Given the description of an element on the screen output the (x, y) to click on. 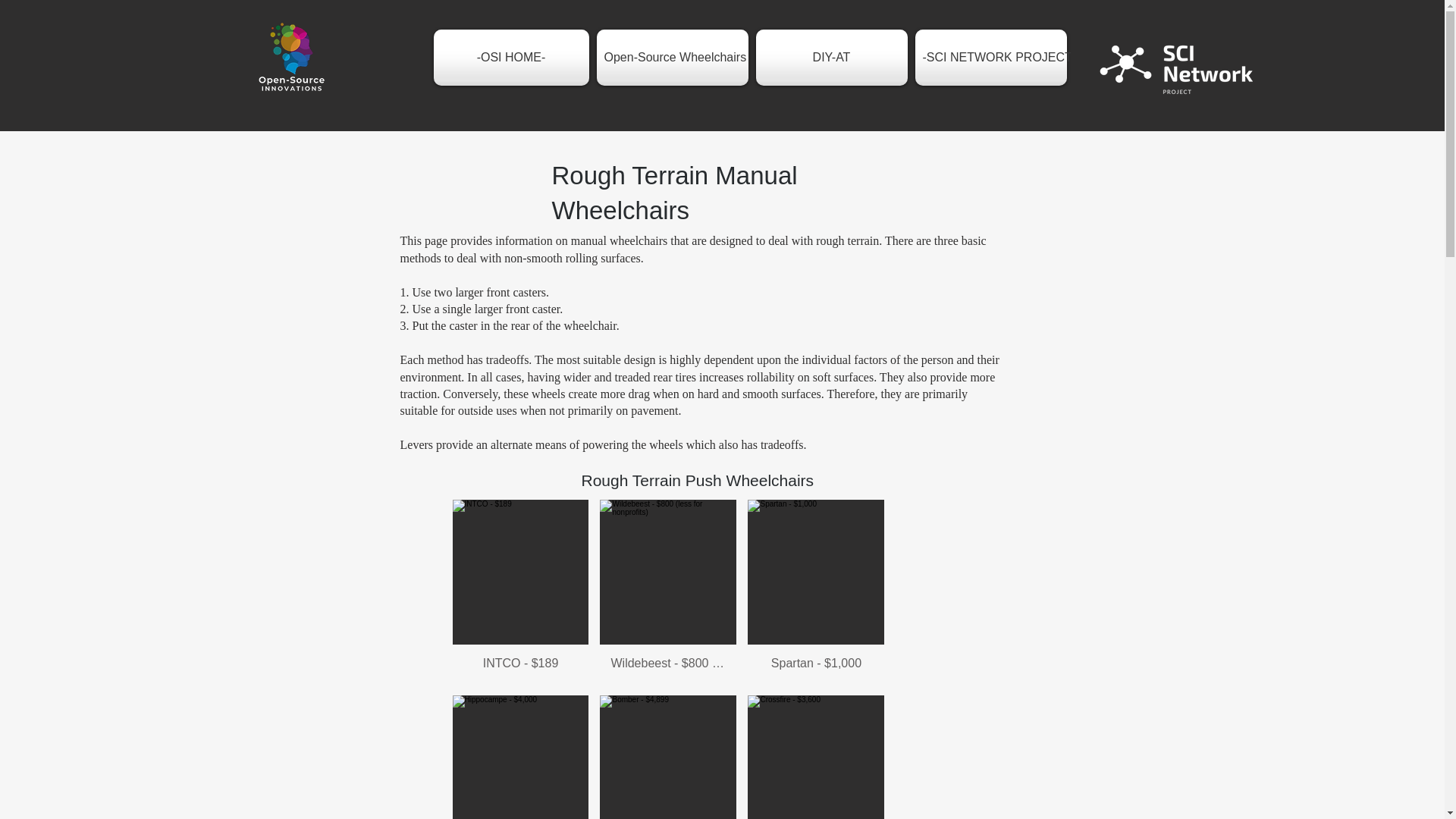
-SCI NETWORK PROJECT- (990, 57)
DIY-AT (831, 57)
-OSI HOME- (512, 57)
